Given the description of an element on the screen output the (x, y) to click on. 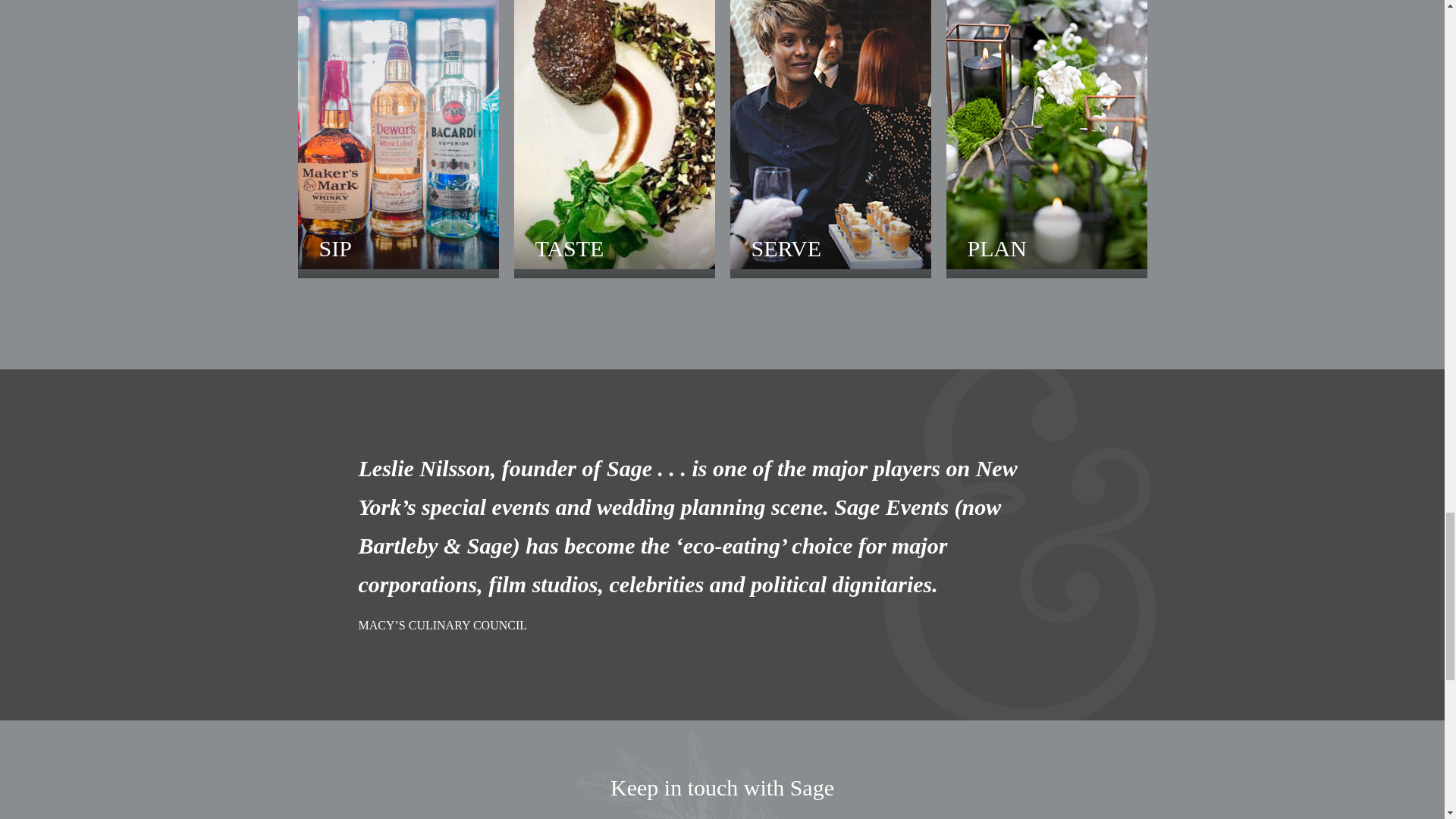
SERVE (829, 139)
TASTE (613, 139)
SIP (397, 139)
PLAN (1046, 139)
